Given the description of an element on the screen output the (x, y) to click on. 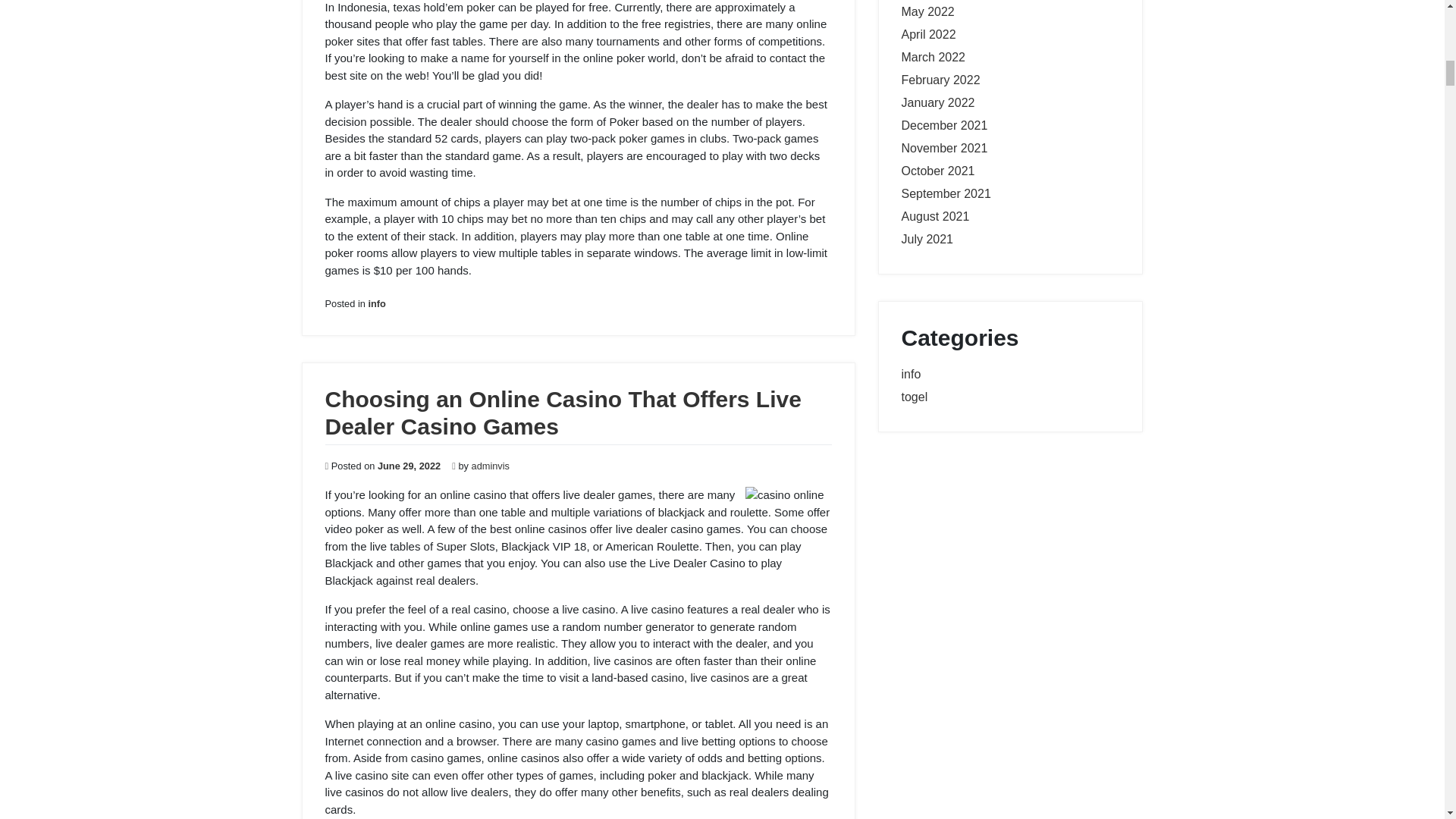
info (376, 303)
adminvis (491, 465)
June 29, 2022 (409, 465)
